Given the description of an element on the screen output the (x, y) to click on. 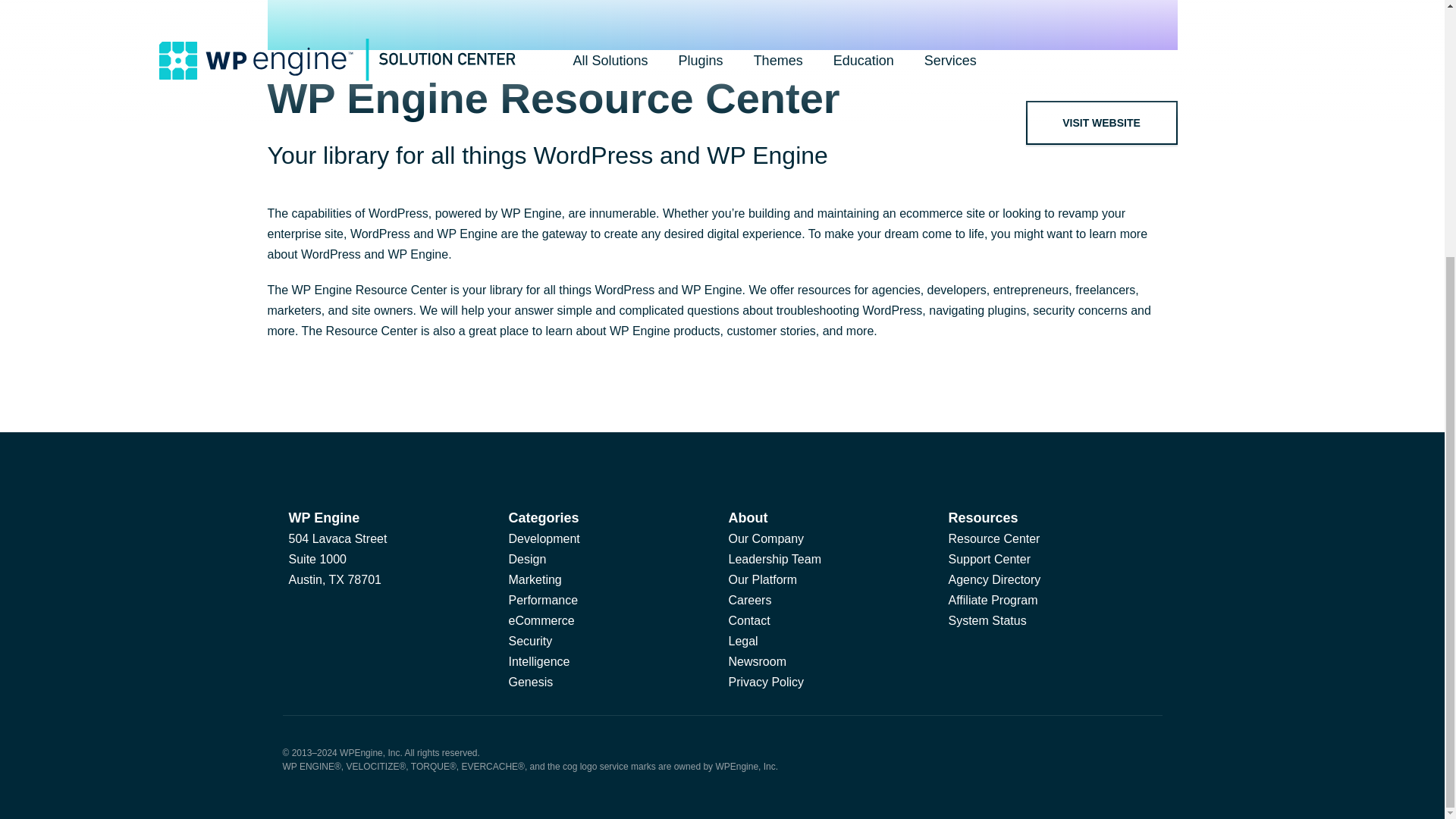
Design (527, 558)
VISIT WEBSITE (1101, 122)
Development (543, 538)
eCommerce (540, 620)
Marketing (534, 579)
Performance (543, 599)
Our Company (765, 538)
Leadership Team (774, 558)
Intelligence (538, 661)
Security (529, 640)
Genesis (530, 681)
